Given the description of an element on the screen output the (x, y) to click on. 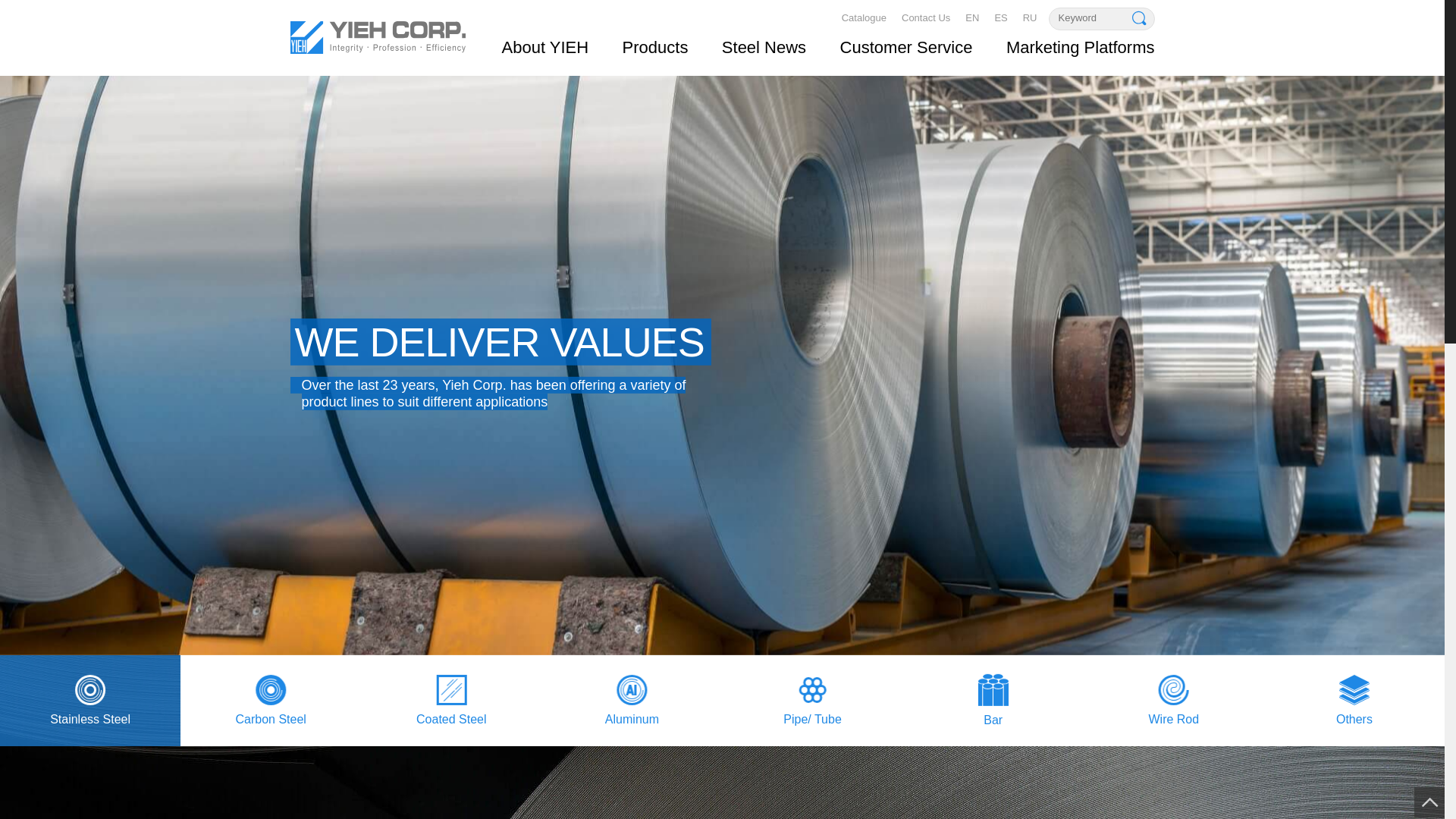
Yieh Corp. (376, 39)
About YIEH (545, 47)
Products (655, 47)
About YIEH (545, 47)
Products (655, 47)
